Given the description of an element on the screen output the (x, y) to click on. 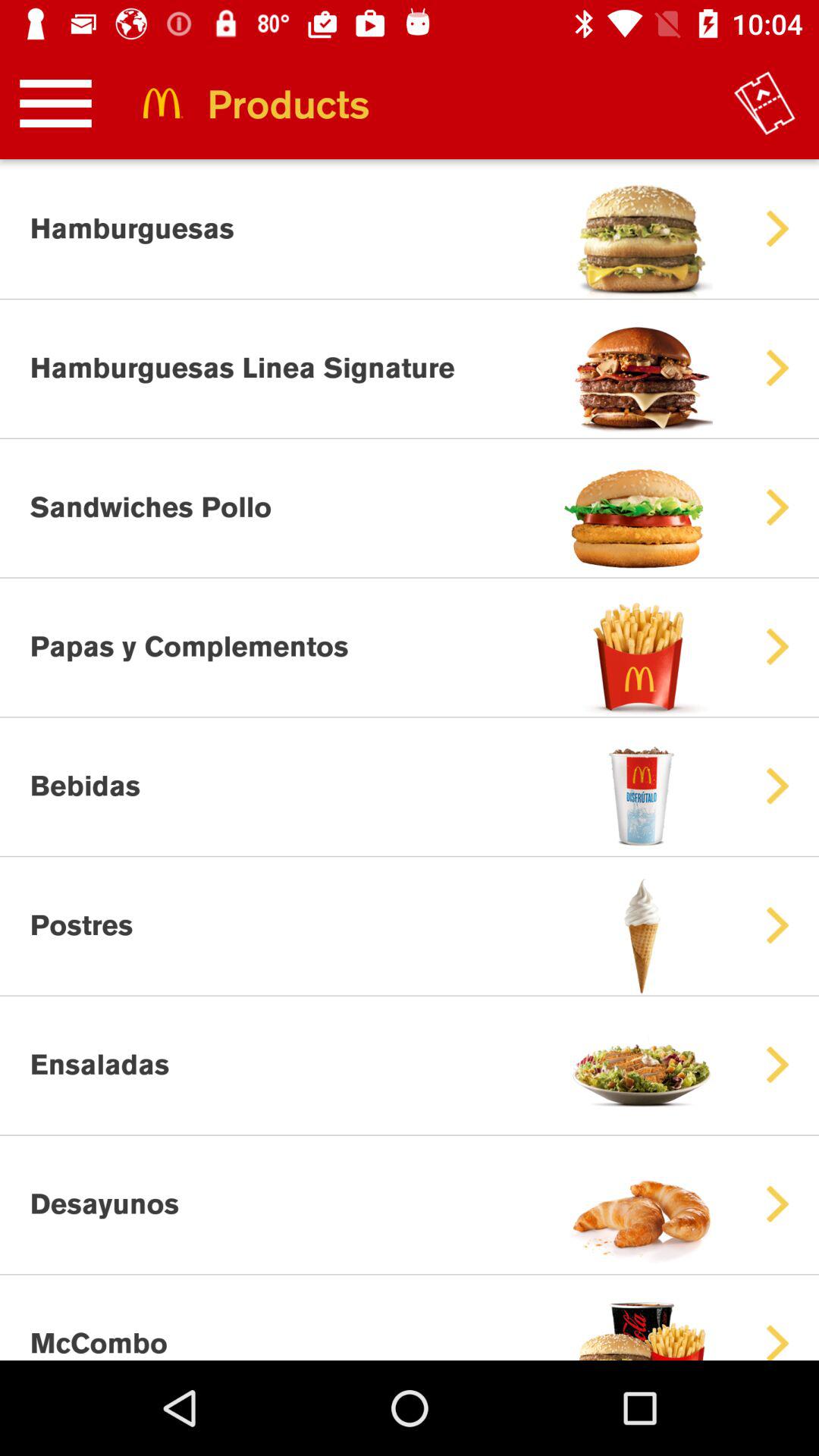
press app to the right of products app (764, 103)
